Given the description of an element on the screen output the (x, y) to click on. 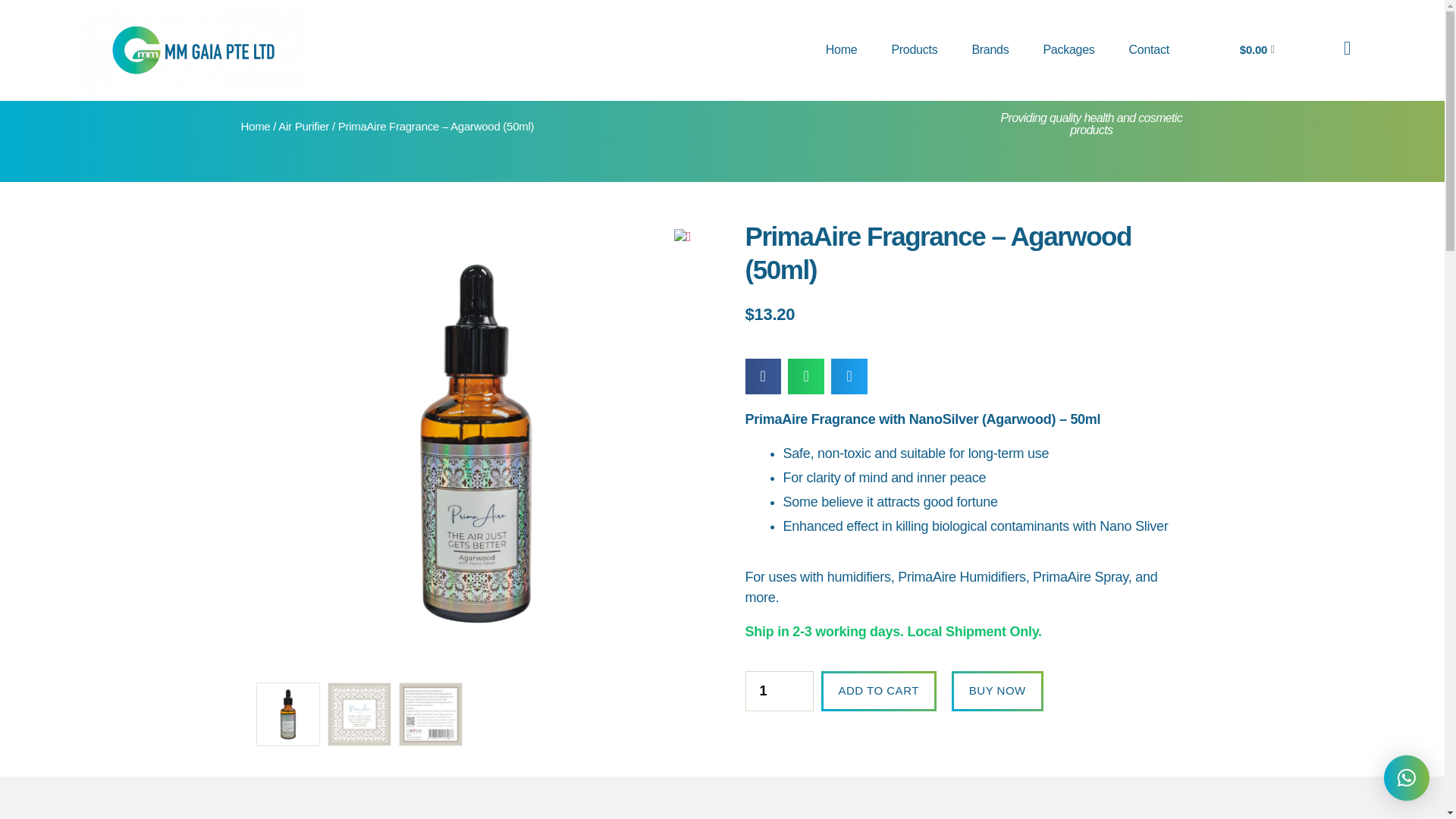
Packages (1068, 49)
Qty (778, 690)
Products (914, 49)
Home (841, 49)
1 (778, 690)
Brands (989, 49)
Contact (1149, 49)
